Given the description of an element on the screen output the (x, y) to click on. 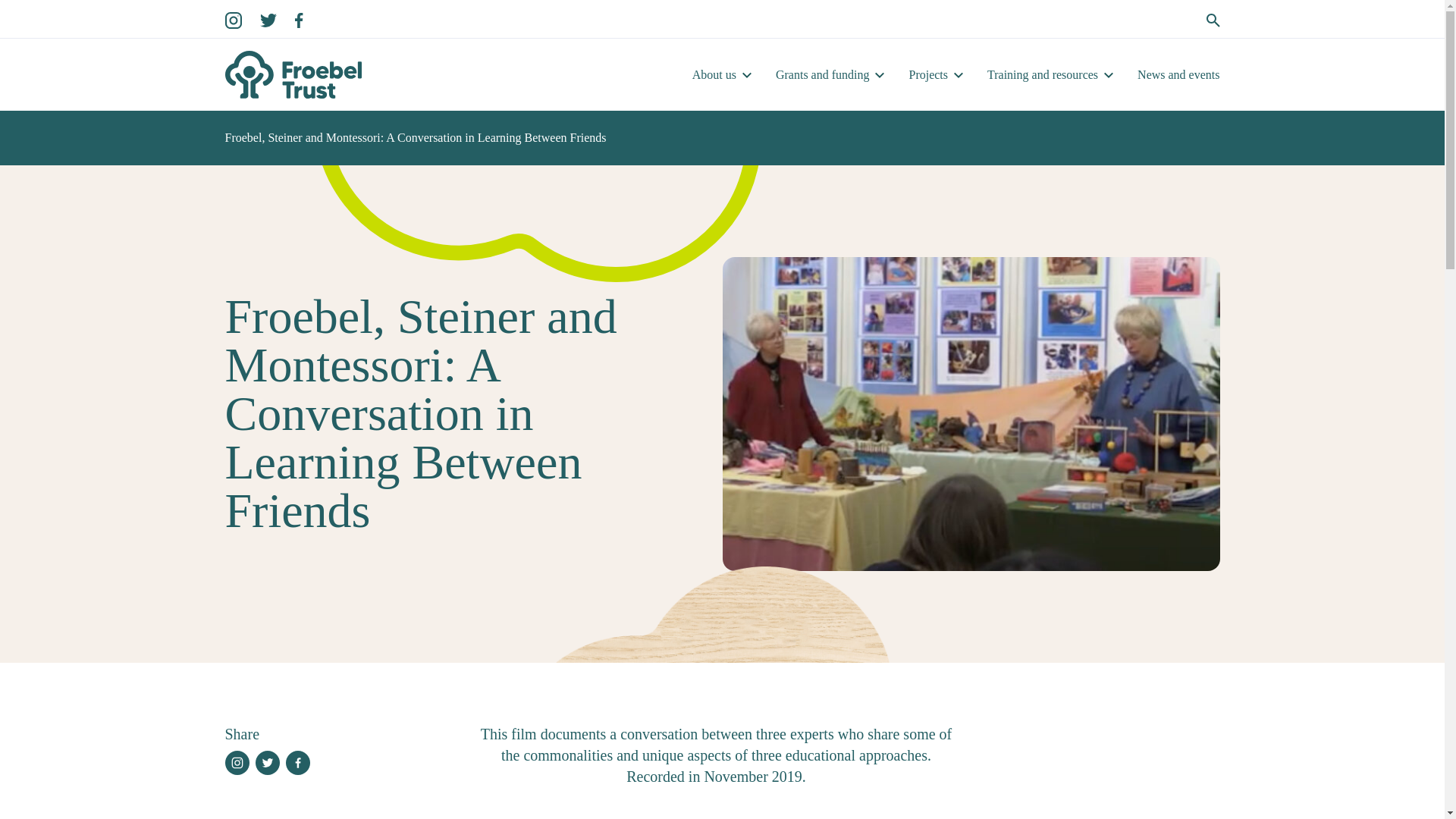
Training and resources (1042, 74)
News and events (1178, 74)
Grants and funding (822, 74)
About us (714, 74)
Projects (927, 74)
